Given the description of an element on the screen output the (x, y) to click on. 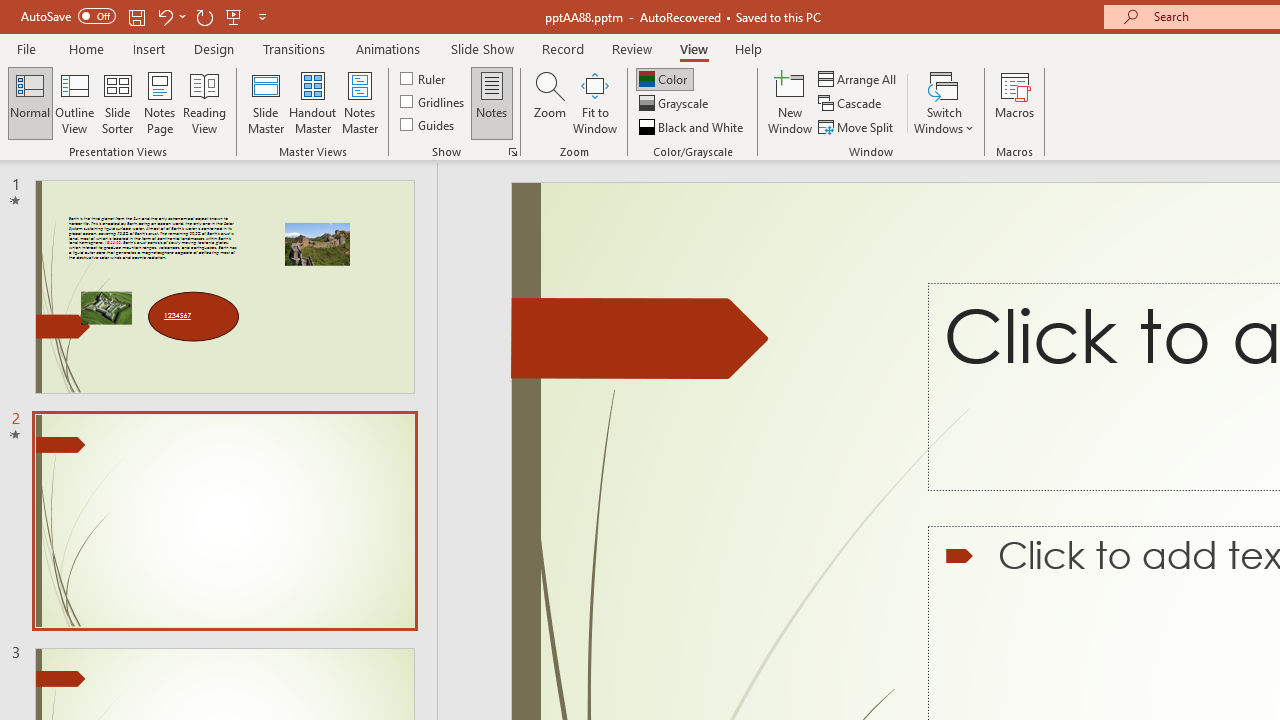
Ruler (423, 78)
New Window (790, 102)
Notes Master (360, 102)
Outline View (74, 102)
Zoom... (549, 102)
Slide Master (265, 102)
Color (664, 78)
